Given the description of an element on the screen output the (x, y) to click on. 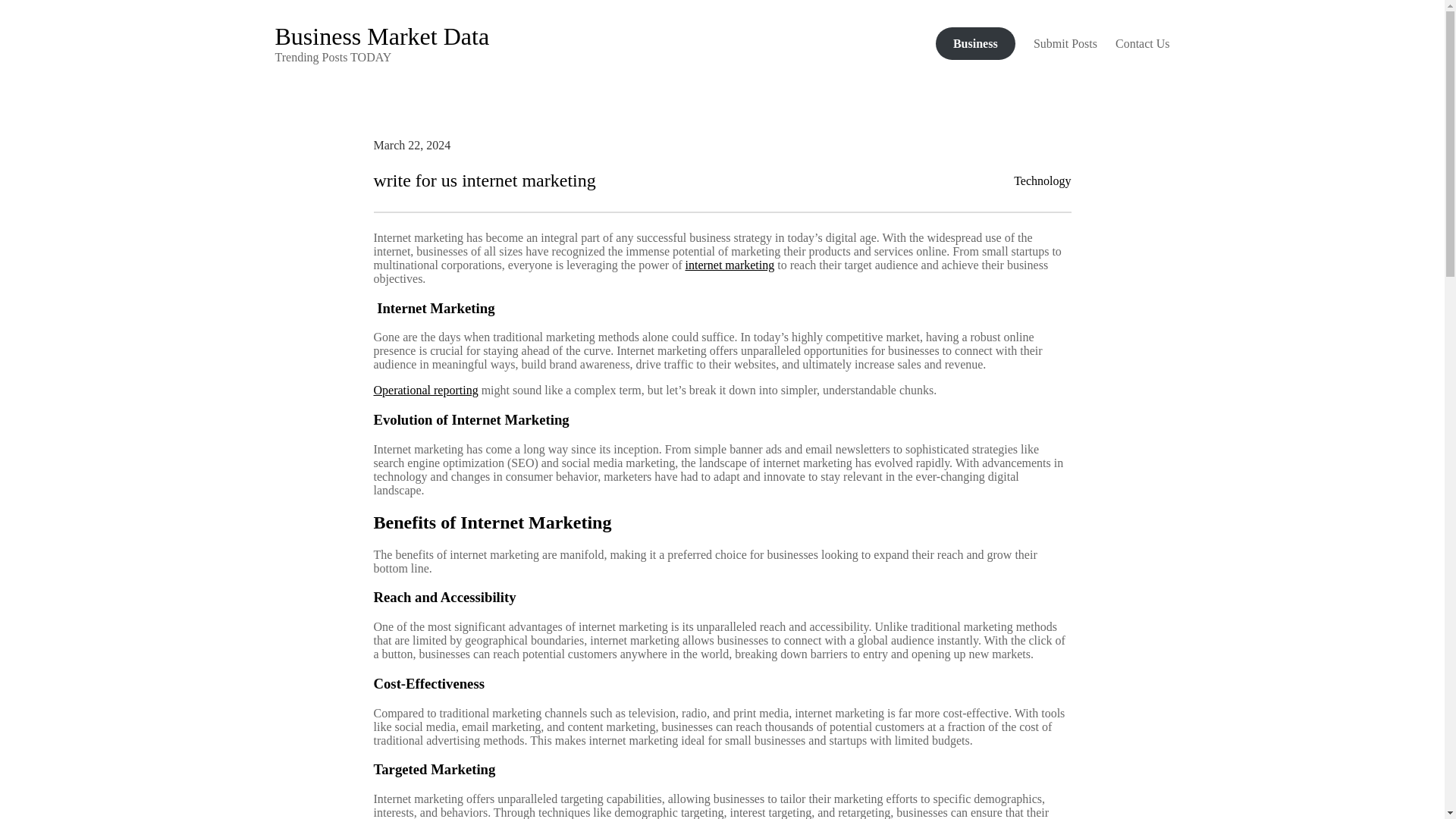
Technology (1041, 180)
Business Market Data (382, 35)
internet marketing (729, 264)
Contact Us (1142, 42)
Operational reporting (424, 390)
Business (975, 43)
Submit Posts (1065, 42)
